Given the description of an element on the screen output the (x, y) to click on. 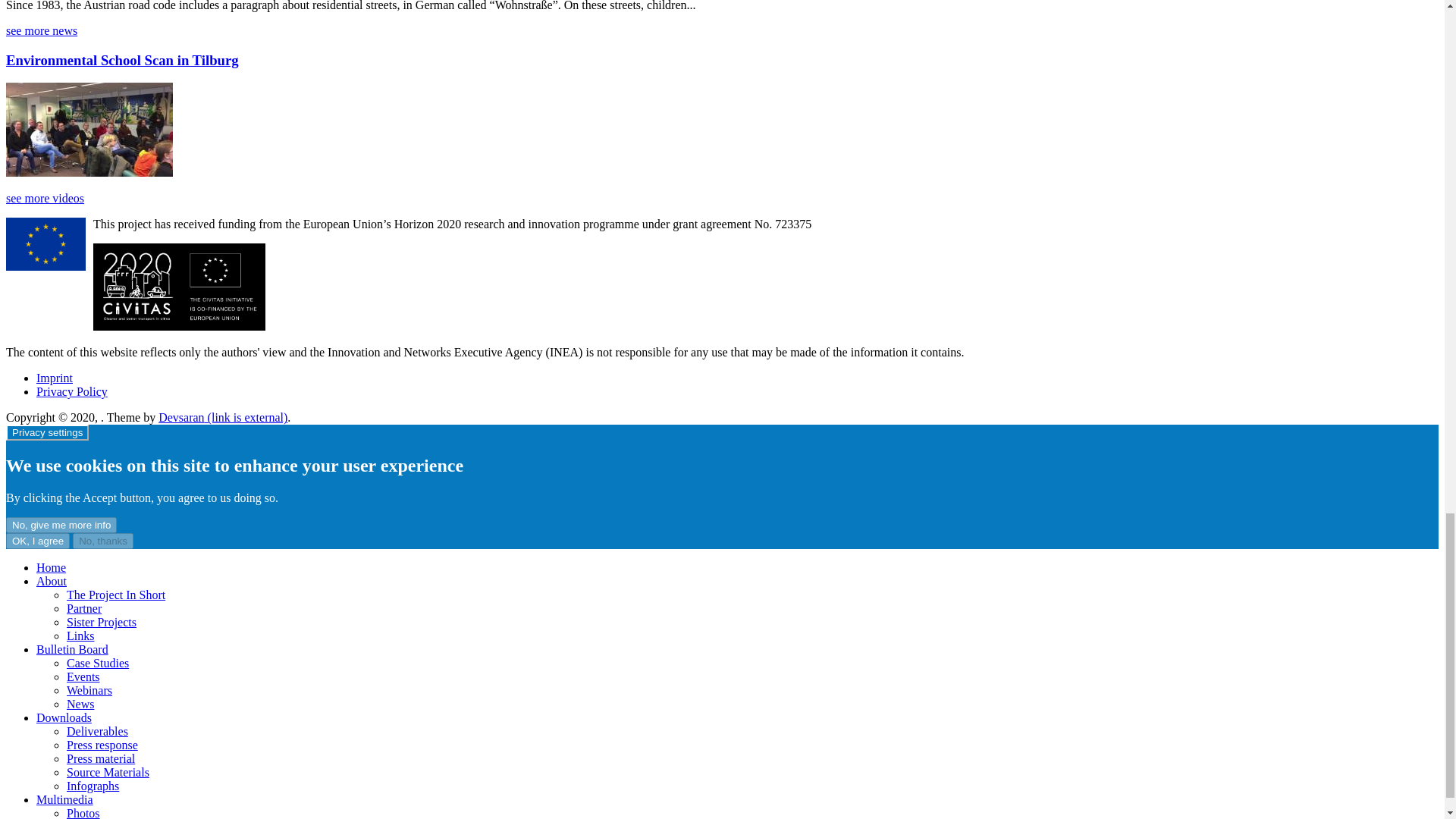
see more news (41, 30)
Imprint (54, 377)
Environmental School Scan in Tilburg (121, 59)
Privacy Policy (71, 391)
Privacy settings (46, 432)
see more videos (44, 197)
